Given the description of an element on the screen output the (x, y) to click on. 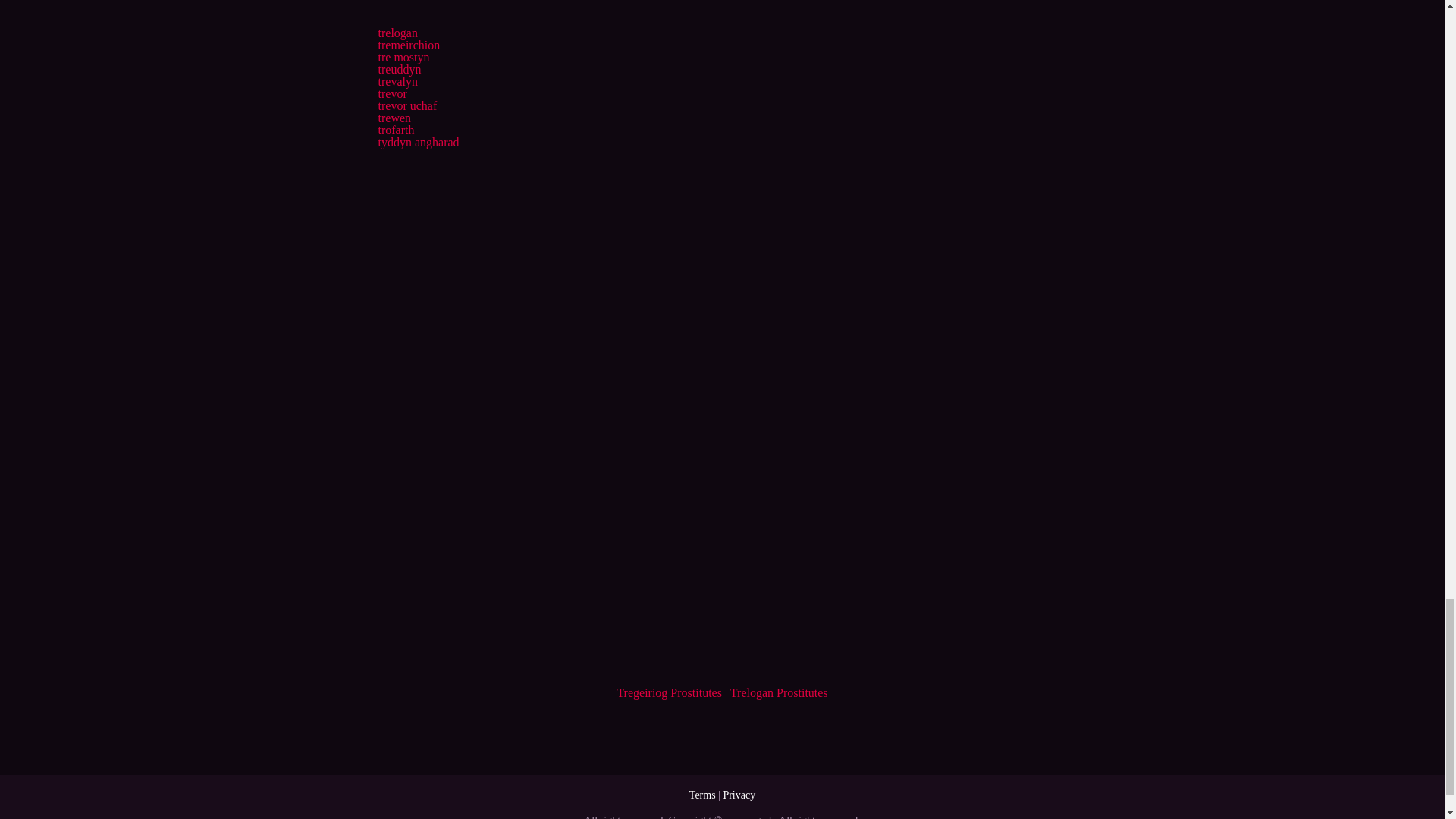
Tregeiriog Prostitutes (668, 692)
treuddyn (398, 69)
trewen (393, 117)
trevalyn (396, 81)
trevor uchaf (406, 105)
trelogan (396, 32)
Privacy (738, 794)
Terms (702, 794)
aeeu.org.uk (749, 816)
Privacy (738, 794)
